Given the description of an element on the screen output the (x, y) to click on. 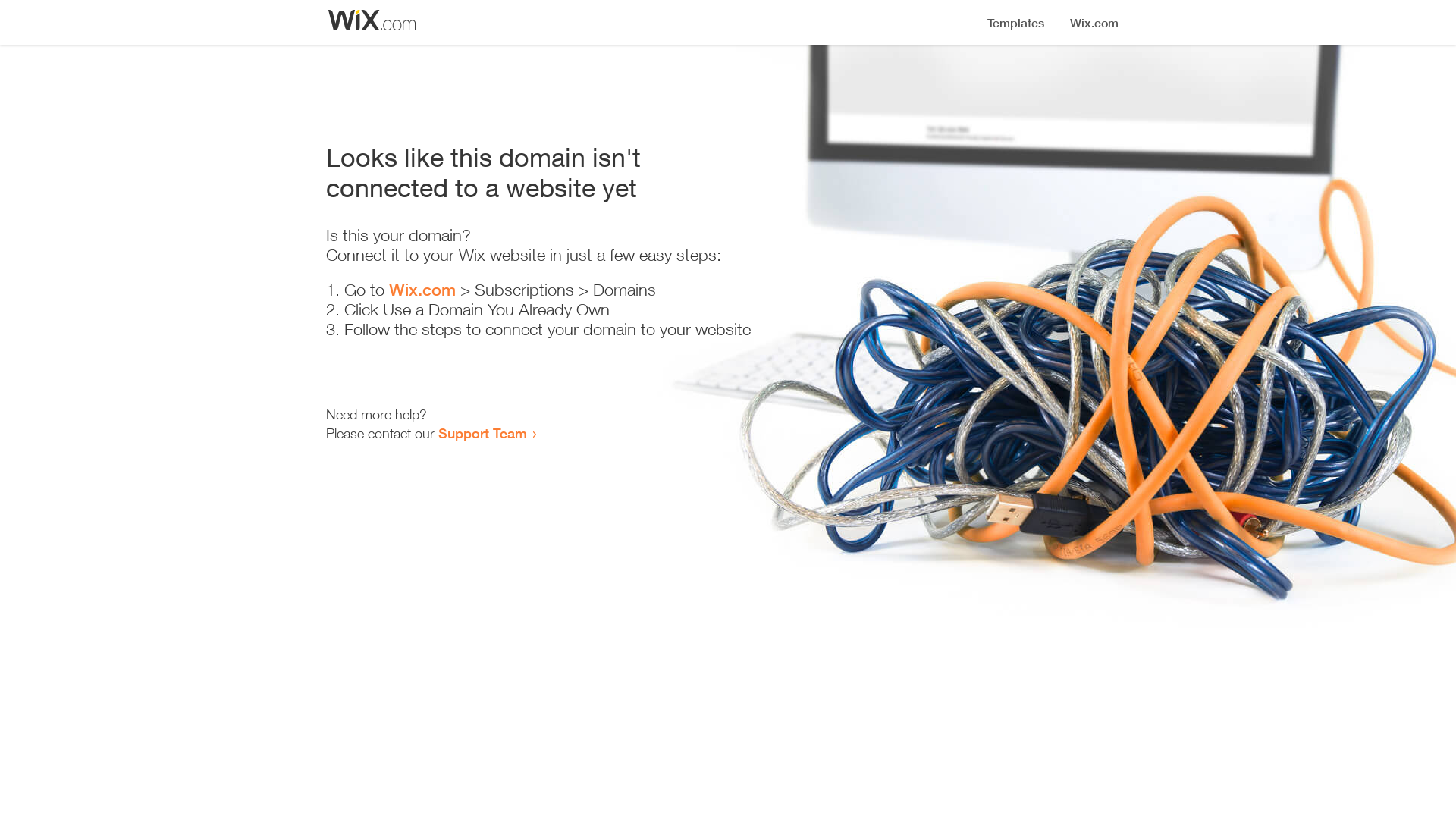
Wix.com Element type: text (422, 289)
Support Team Element type: text (482, 432)
